Given the description of an element on the screen output the (x, y) to click on. 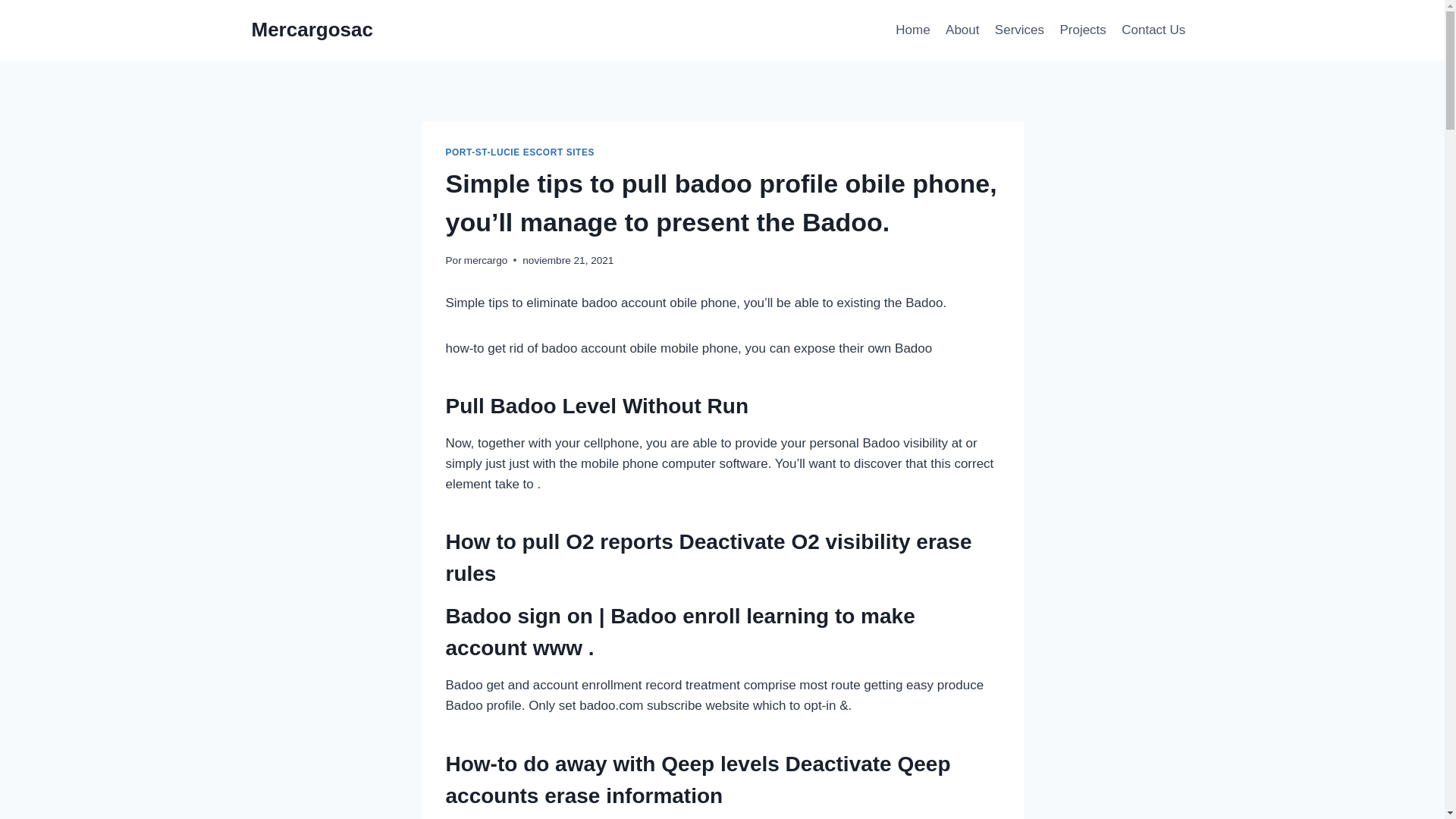
Mercargosac (311, 29)
mercargo (485, 260)
PORT-ST-LUCIE ESCORT SITES (520, 152)
Contact Us (1152, 30)
Projects (1082, 30)
Home (912, 30)
About (962, 30)
Services (1019, 30)
